Given the description of an element on the screen output the (x, y) to click on. 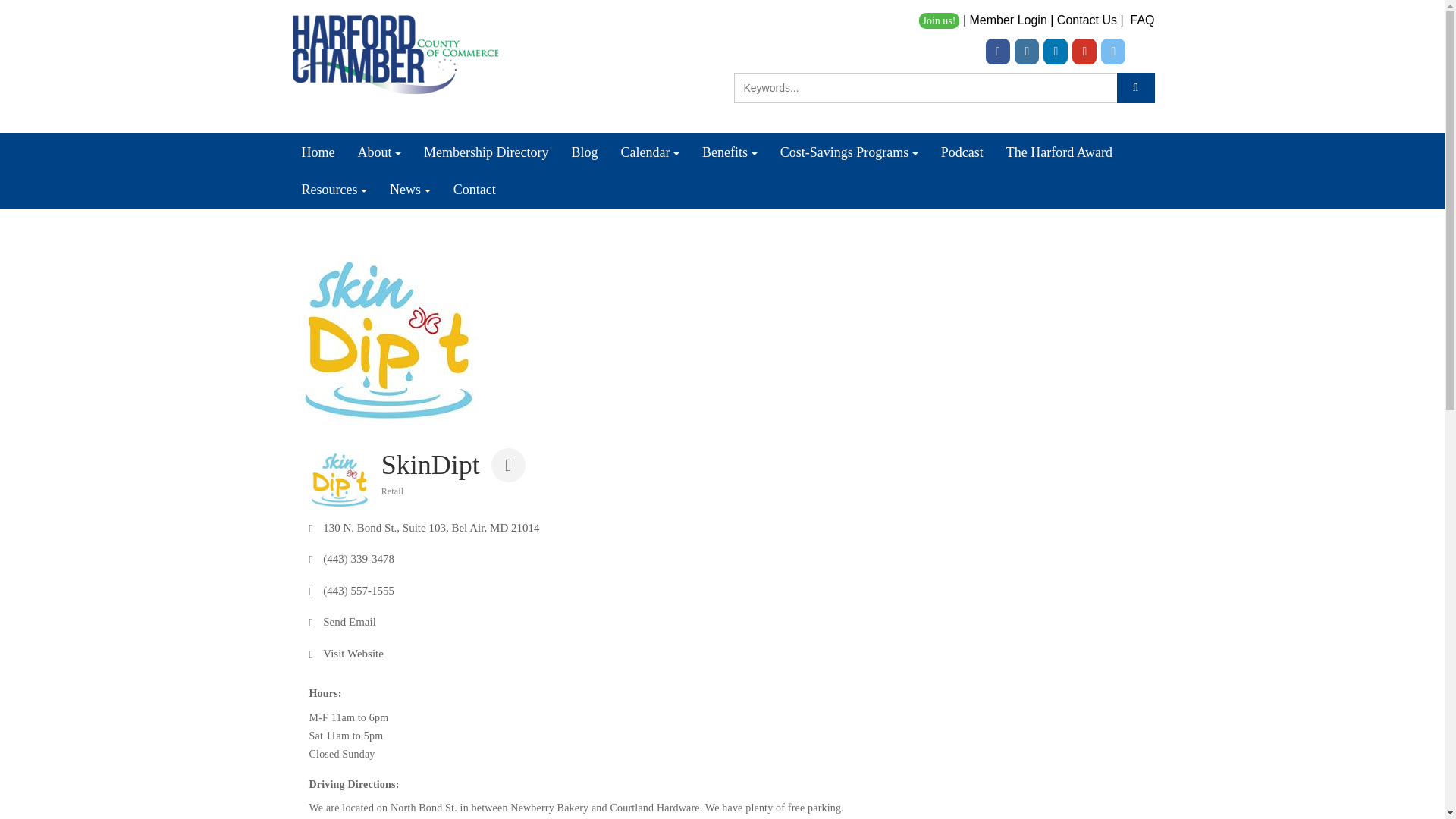
Contact Us (1086, 19)
Harford County Chamber of Commerce on Instagram (1026, 51)
Calendar (650, 152)
FAQ (1141, 19)
Harford County Chamber of Commerce on Facebook (997, 51)
Member Login (1007, 19)
Blog (585, 152)
Join us! (938, 20)
Join us! (938, 20)
About (379, 152)
Harford County Chamber of Commerce on  (1141, 51)
Home (317, 152)
Harford County Chamber of Commerce on Linkedin (1055, 51)
Harford County Chamber of Commerce on X Twitter (1112, 51)
Benefits (729, 152)
